Given the description of an element on the screen output the (x, y) to click on. 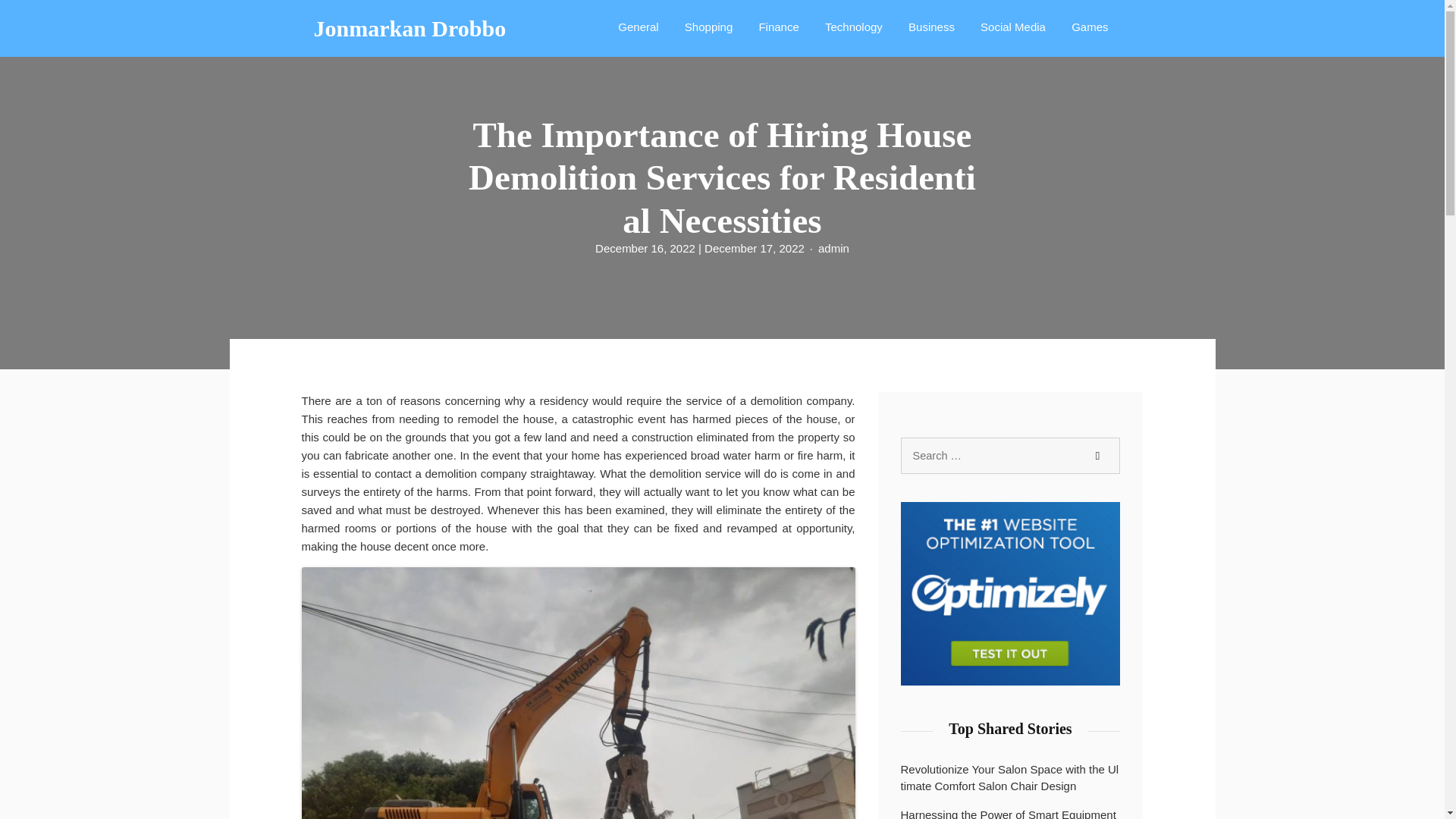
Business (931, 26)
Games (1089, 26)
Jonmarkan Drobbo (410, 28)
General (637, 26)
admin (833, 248)
Games (1089, 26)
Shopping (708, 26)
Technology (852, 26)
Social Media (1012, 26)
